Given the description of an element on the screen output the (x, y) to click on. 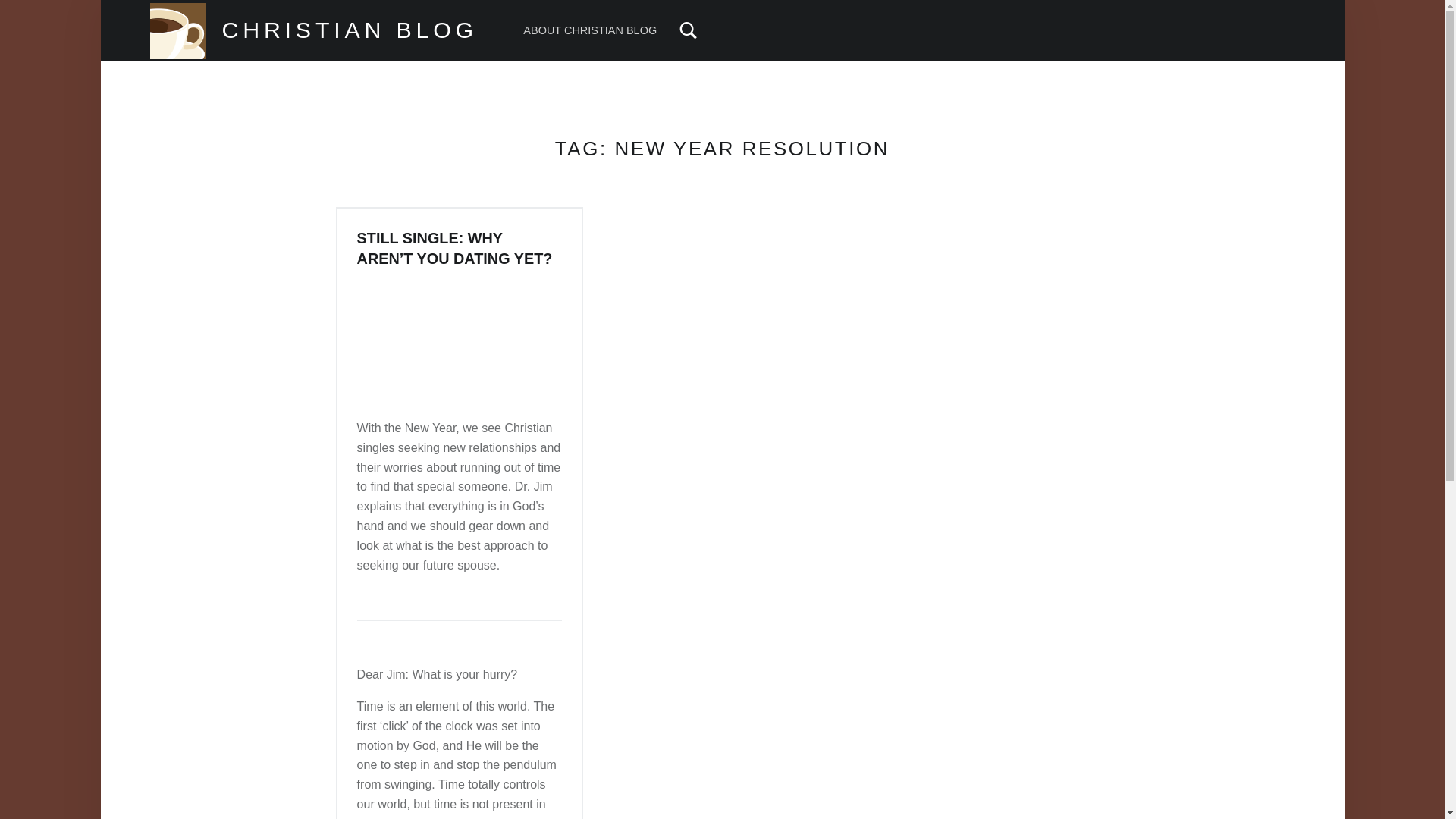
ABOUT CHRISTIAN BLOG (589, 30)
CHRISTIAN BLOG (349, 29)
Search (633, 18)
